Given the description of an element on the screen output the (x, y) to click on. 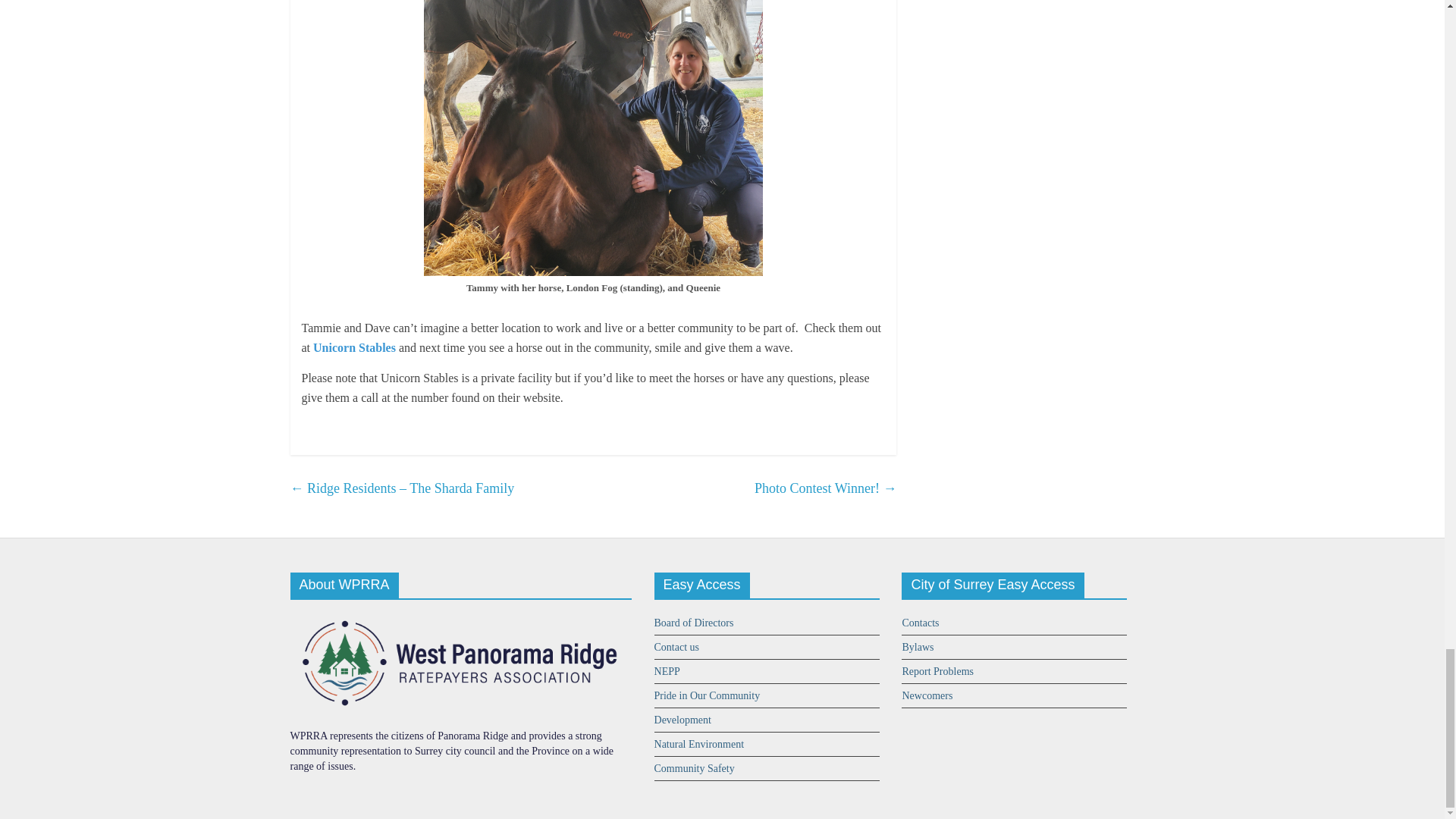
contact-us (676, 646)
Unicorn Stables (354, 347)
Natural Environment (698, 744)
Contact City of Surrey (920, 622)
Development (682, 719)
PanaromaRidge (459, 618)
community safety (694, 767)
Board of Directors (693, 622)
NEPP (666, 671)
Bylaws (917, 646)
Report Problems (937, 671)
Pride in Our Community (706, 695)
